Given the description of an element on the screen output the (x, y) to click on. 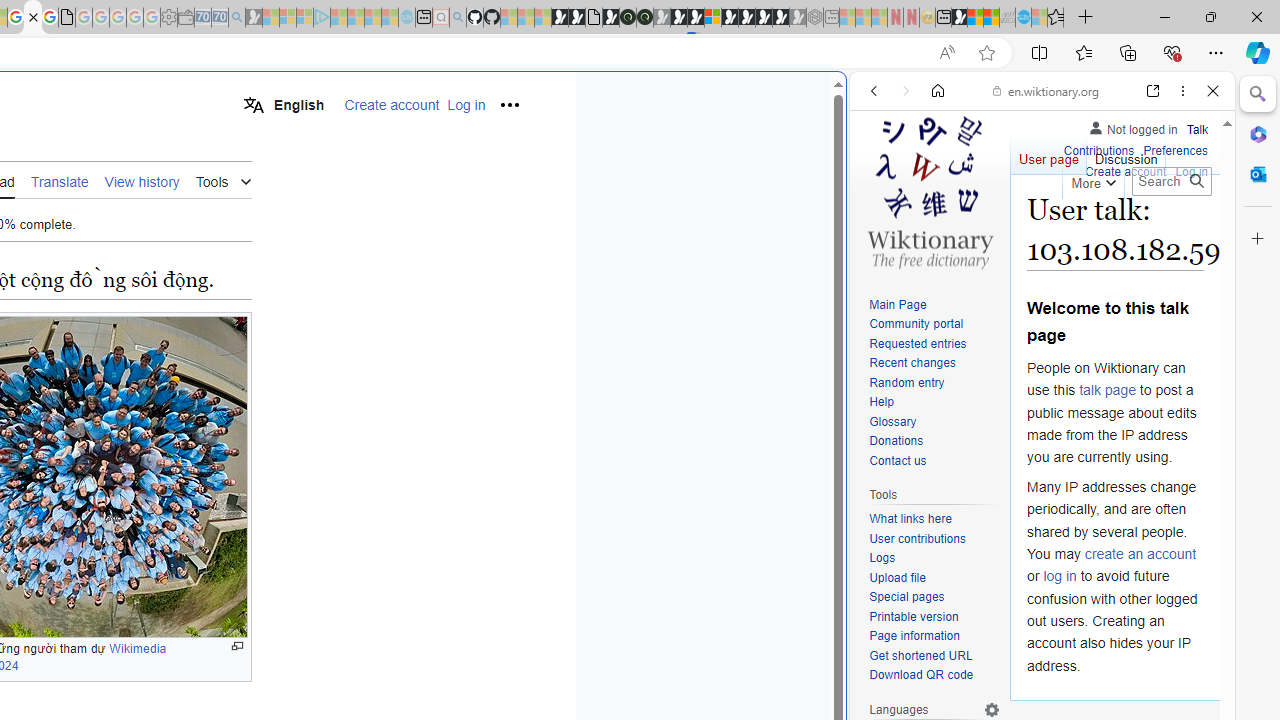
Not logged in (1132, 126)
create an account (1140, 553)
Printable version (913, 616)
Glossary (892, 421)
Random entry (906, 382)
English (283, 104)
Community portal (916, 323)
Recent changes (934, 363)
